Given the description of an element on the screen output the (x, y) to click on. 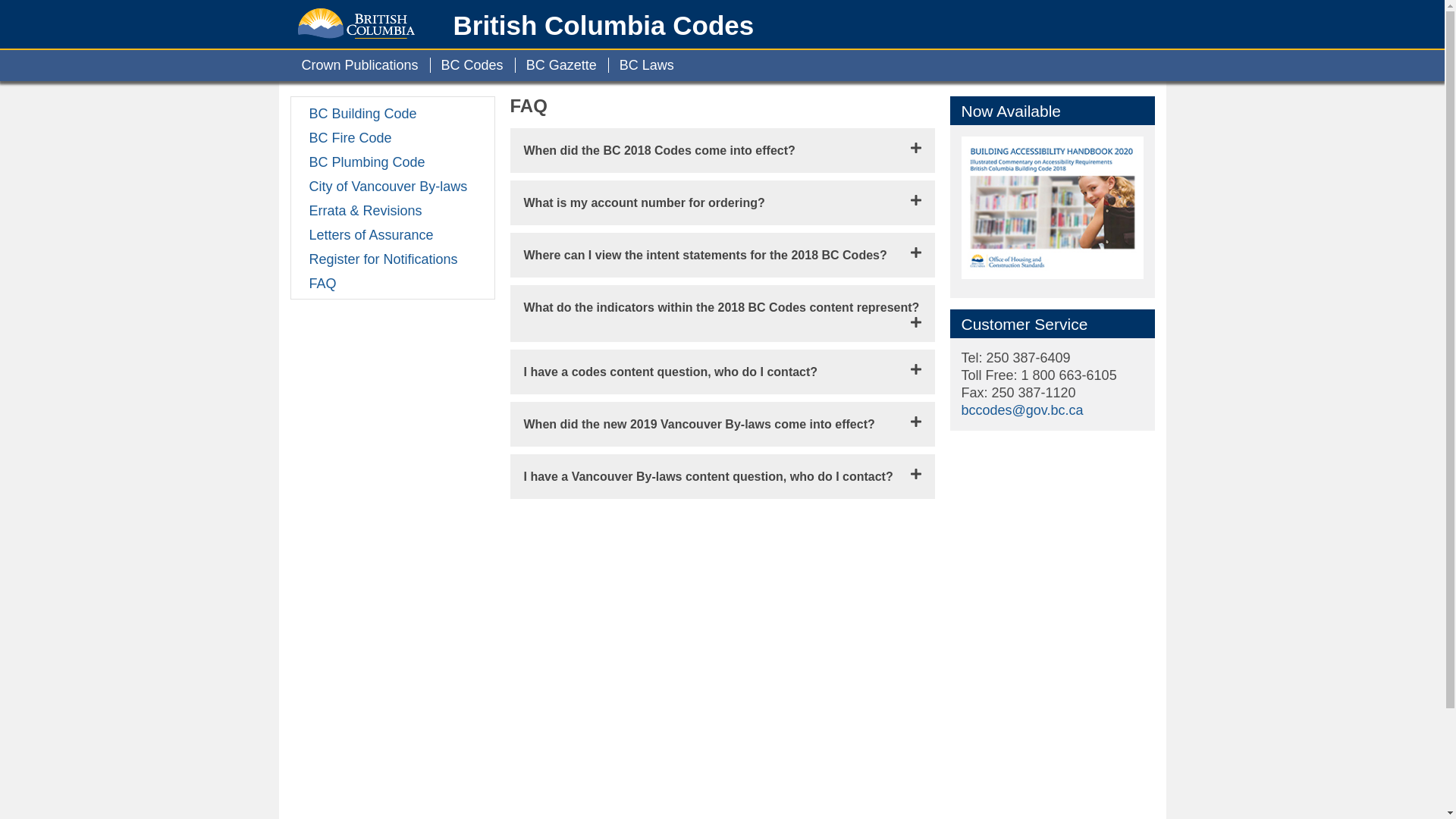
BC Codes Element type: text (471, 65)
FAQ Element type: text (392, 282)
Letters of Assurance Element type: text (392, 233)
Crown Publications Element type: text (359, 65)
expand Element type: hover (915, 369)
City of Vancouver By-laws Element type: text (392, 185)
expand Element type: hover (915, 252)
BC Gazette Element type: text (561, 65)
What is my account number for ordering?
expand Element type: text (721, 202)
expand Element type: hover (915, 147)
Errata & Revisions Element type: text (392, 209)
bccodes@gov.bc.ca Element type: text (1022, 409)
I have a codes content question, who do I contact?
expand Element type: text (721, 371)
Government of B.C. Element type: hover (355, 19)
expand Element type: hover (915, 473)
expand Element type: hover (915, 200)
Register for Notifications Element type: text (392, 258)
BC Building Code Element type: text (392, 112)
BC Fire Code Element type: text (392, 136)
BC Laws Element type: text (646, 65)
British Columbia Codes Element type: text (603, 25)
When did the BC 2018 Codes come into effect?
expand Element type: text (721, 150)
BC Plumbing Code Element type: text (392, 161)
expand Element type: hover (915, 421)
expand Element type: hover (915, 322)
